Given the description of an element on the screen output the (x, y) to click on. 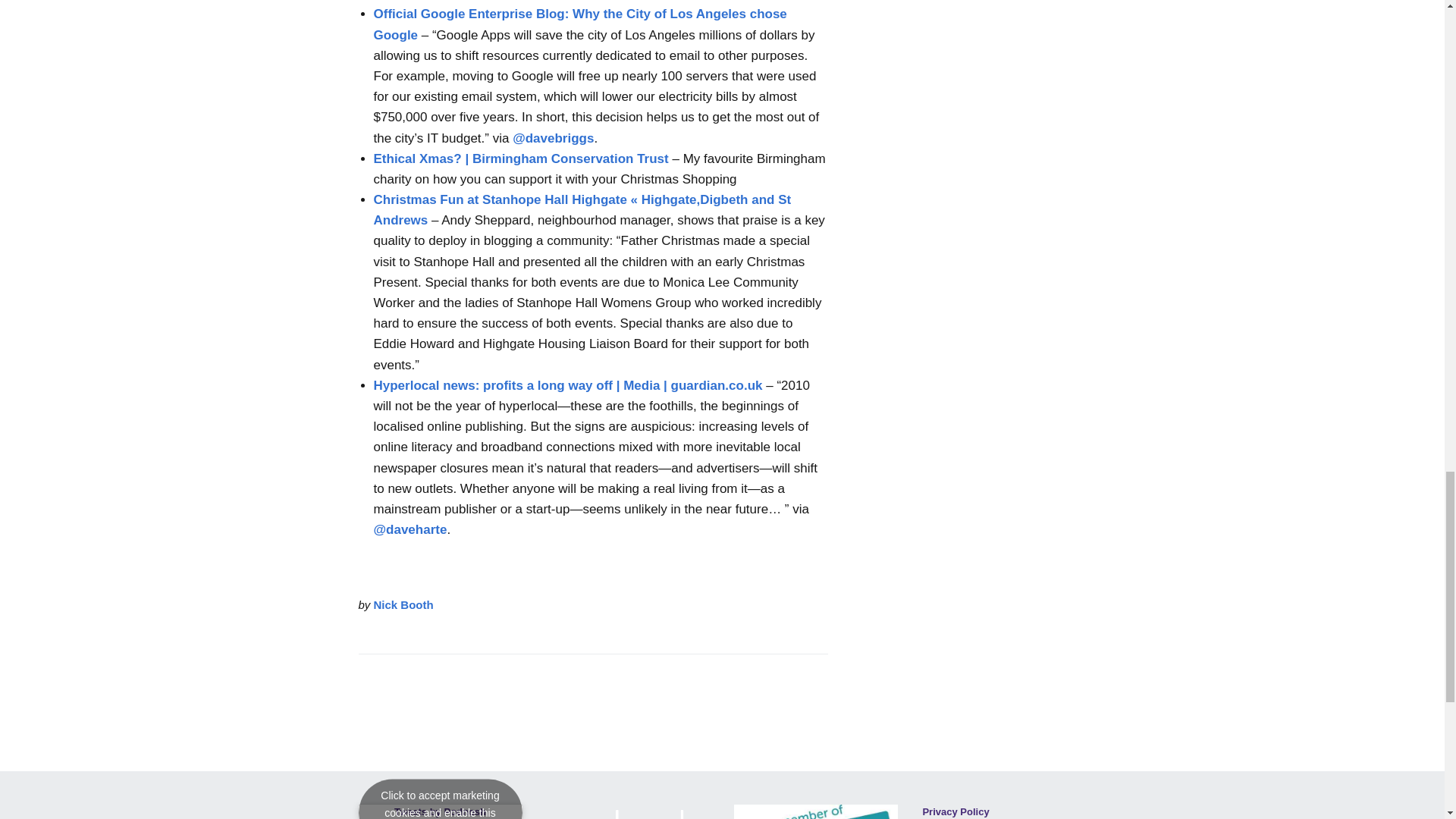
Dave's blog post (409, 529)
Davepress blog post (553, 138)
